Given the description of an element on the screen output the (x, y) to click on. 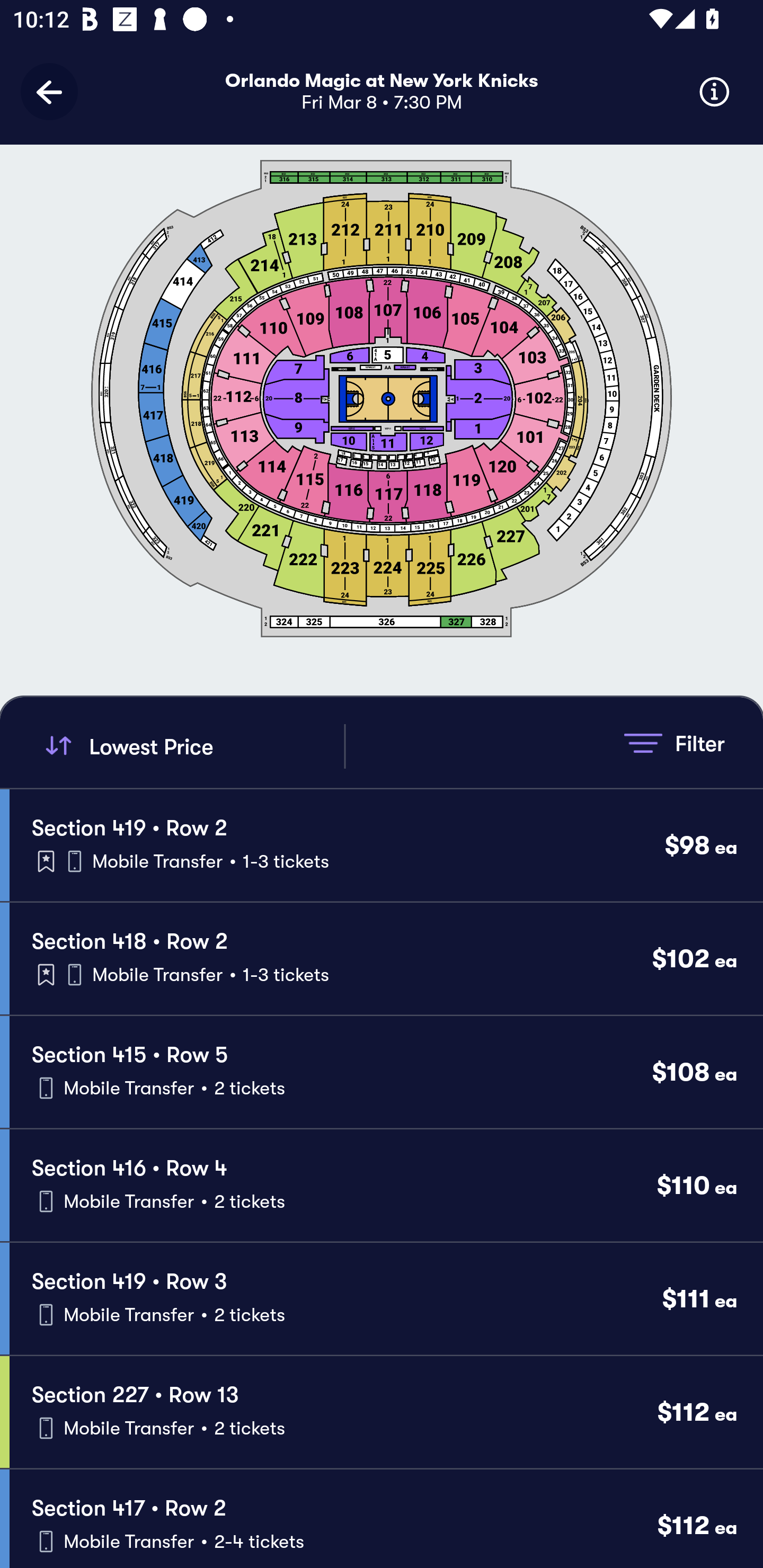
Lowest Price (191, 746)
Filter (674, 743)
